Given the description of an element on the screen output the (x, y) to click on. 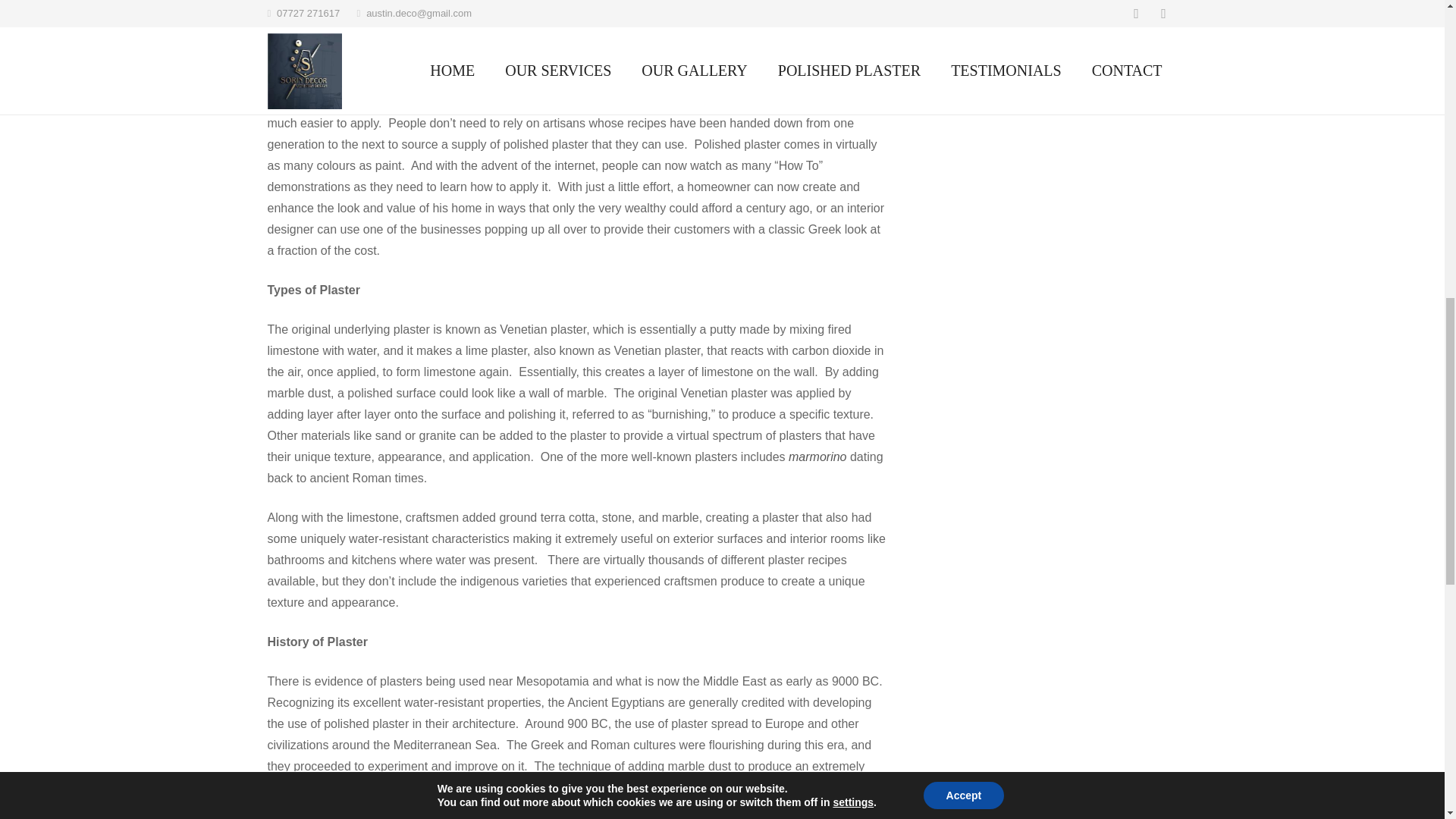
Blog (975, 16)
Back to top (1413, 30)
marmorino (817, 456)
